Given the description of an element on the screen output the (x, y) to click on. 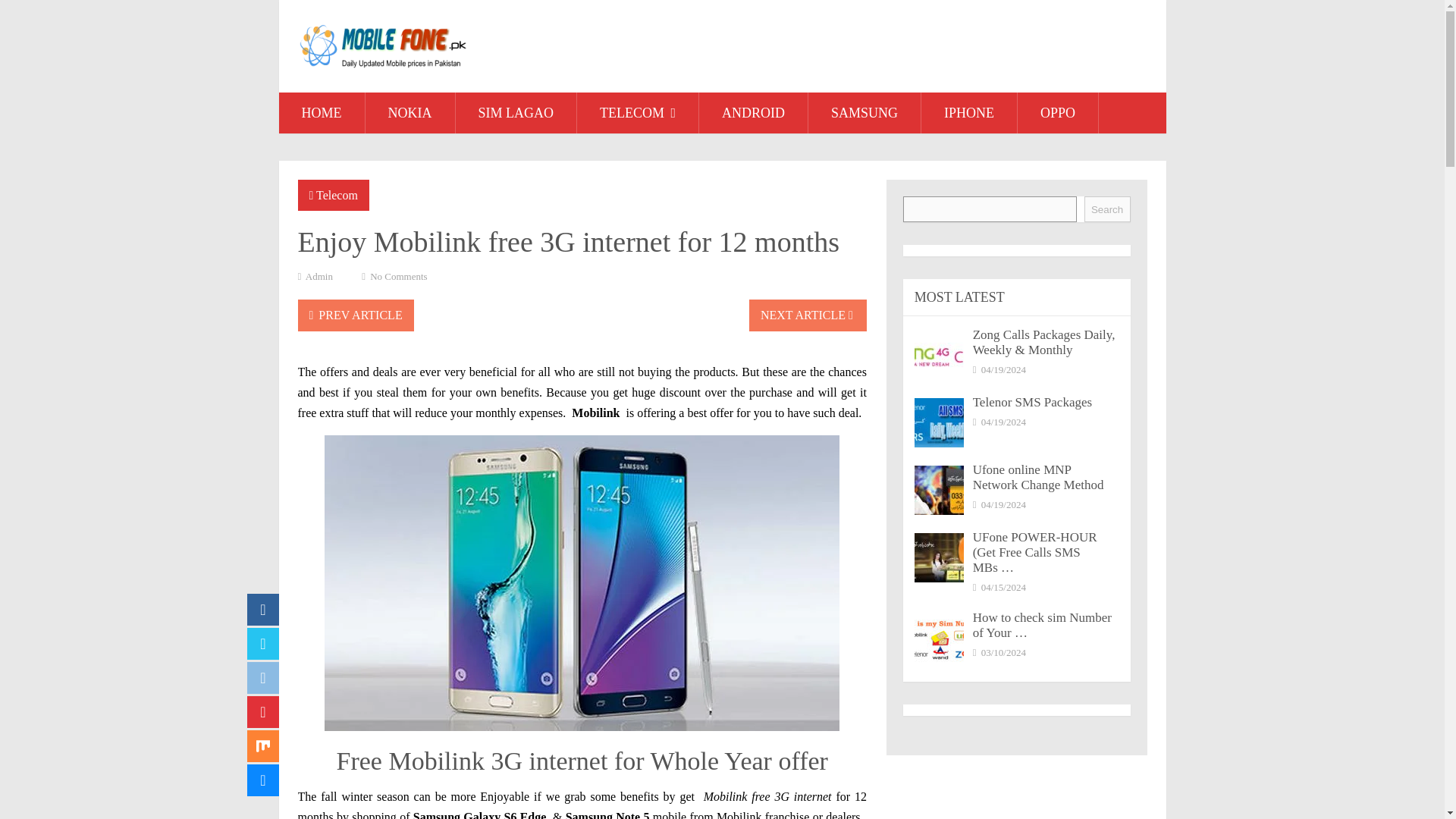
PREV ARTICLE (355, 315)
NEXT ARTICLE (807, 315)
Mobilink free 3G internet (767, 796)
IPHONE (968, 112)
HOME (322, 112)
No Comments (397, 276)
SAMSUNG (864, 112)
NOKIA (409, 112)
Telecom (336, 195)
ANDROID (753, 112)
TELECOM (637, 112)
SIM LAGAO (515, 112)
OPPO (1057, 112)
Mobilink 1GB Fast 3G Daily Internet offer Detail (767, 796)
Mobilink (597, 412)
